Given the description of an element on the screen output the (x, y) to click on. 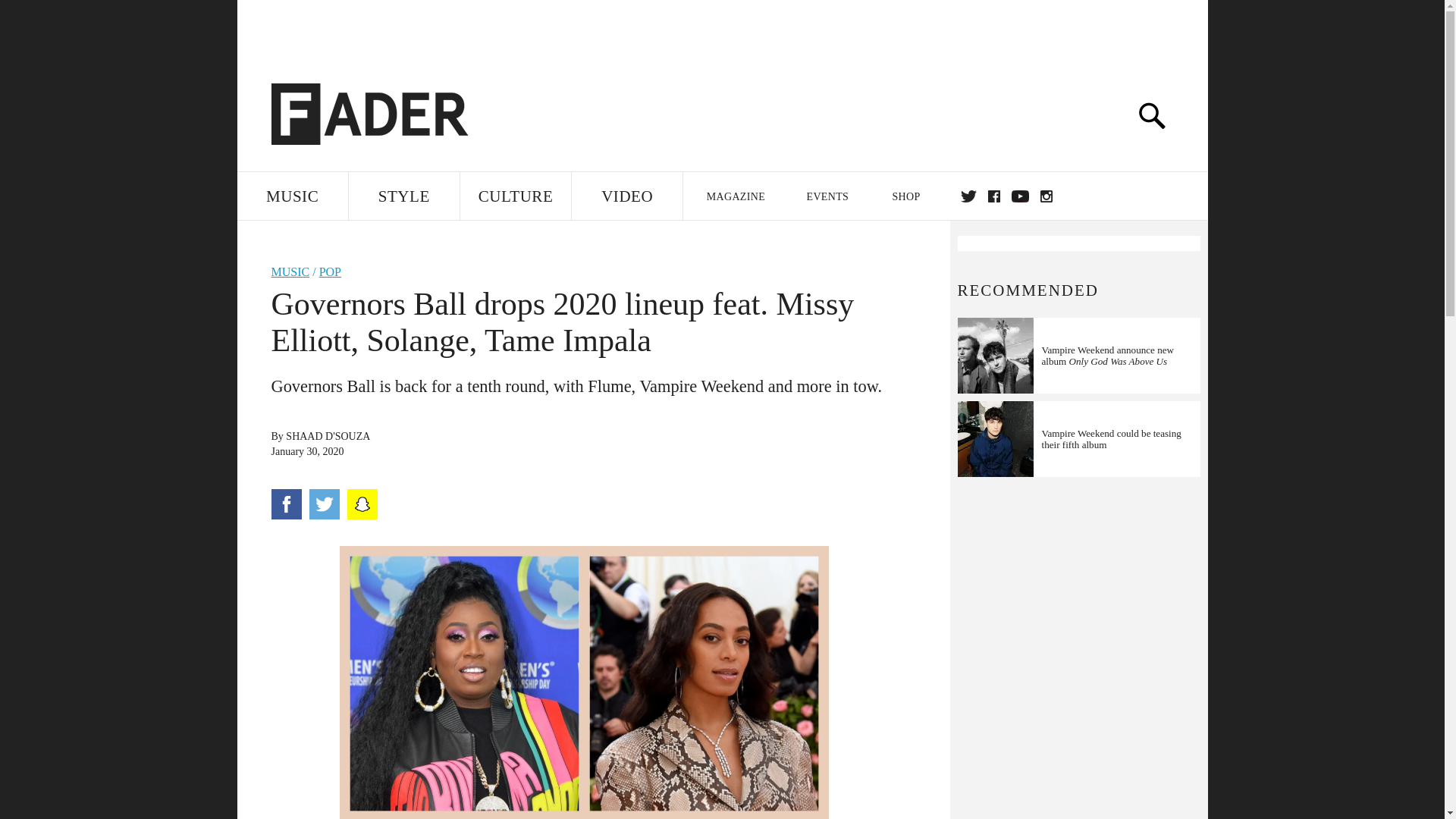
VIDEO (627, 196)
CULTURE (515, 196)
MUSIC (291, 196)
SHOP (905, 196)
MAGAZINE (734, 196)
STYLE (404, 196)
EVENTS (828, 196)
